Given the description of an element on the screen output the (x, y) to click on. 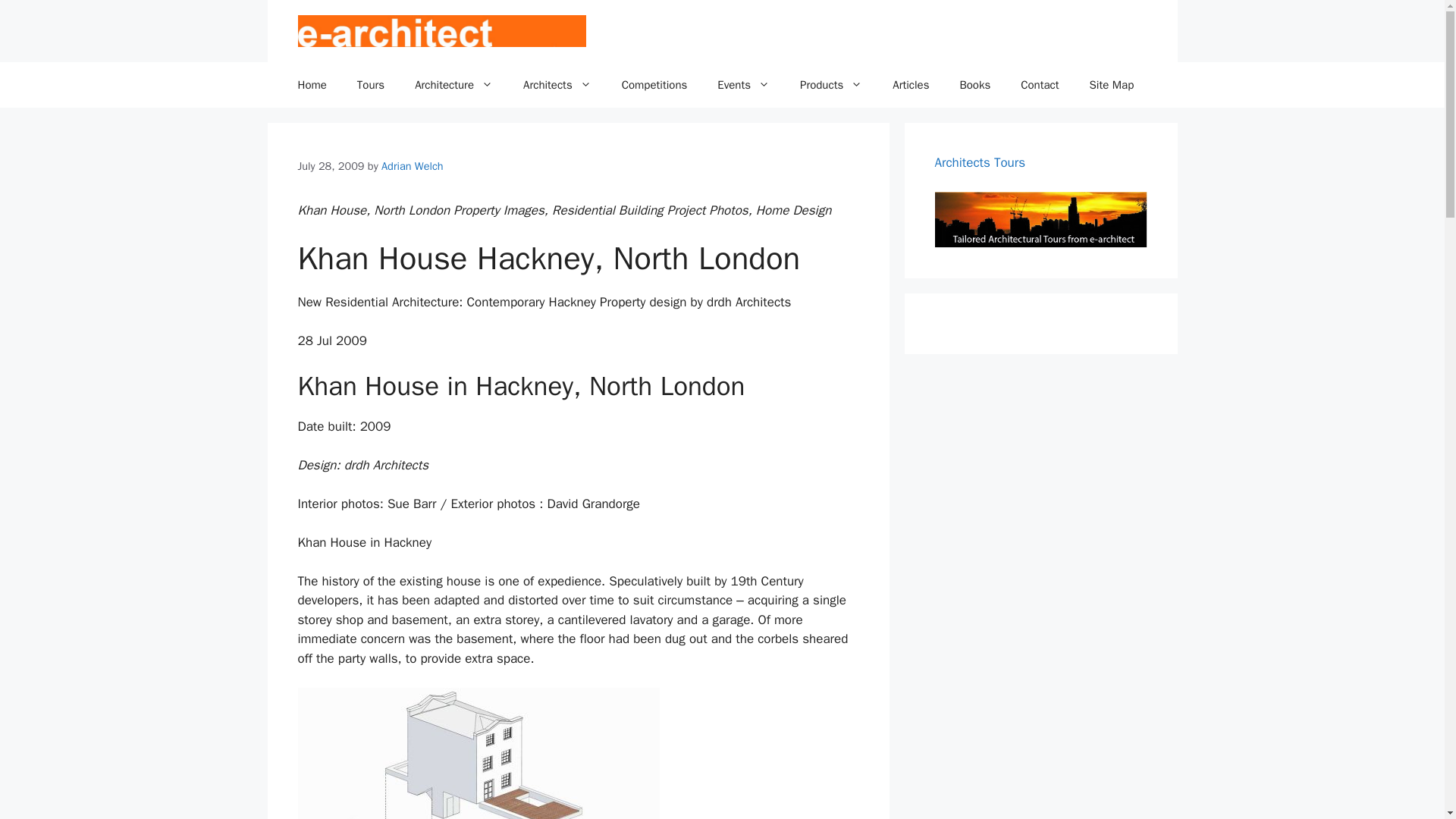
Products (830, 84)
Home (311, 84)
Site Map (1112, 84)
Architects (557, 84)
Books (974, 84)
View all posts by Adrian Welch (412, 165)
Home (311, 84)
Tours (370, 84)
Articles (910, 84)
Contact (1040, 84)
Architecture (453, 84)
Adrian Welch (412, 165)
Competitions (655, 84)
Events (742, 84)
